Given the description of an element on the screen output the (x, y) to click on. 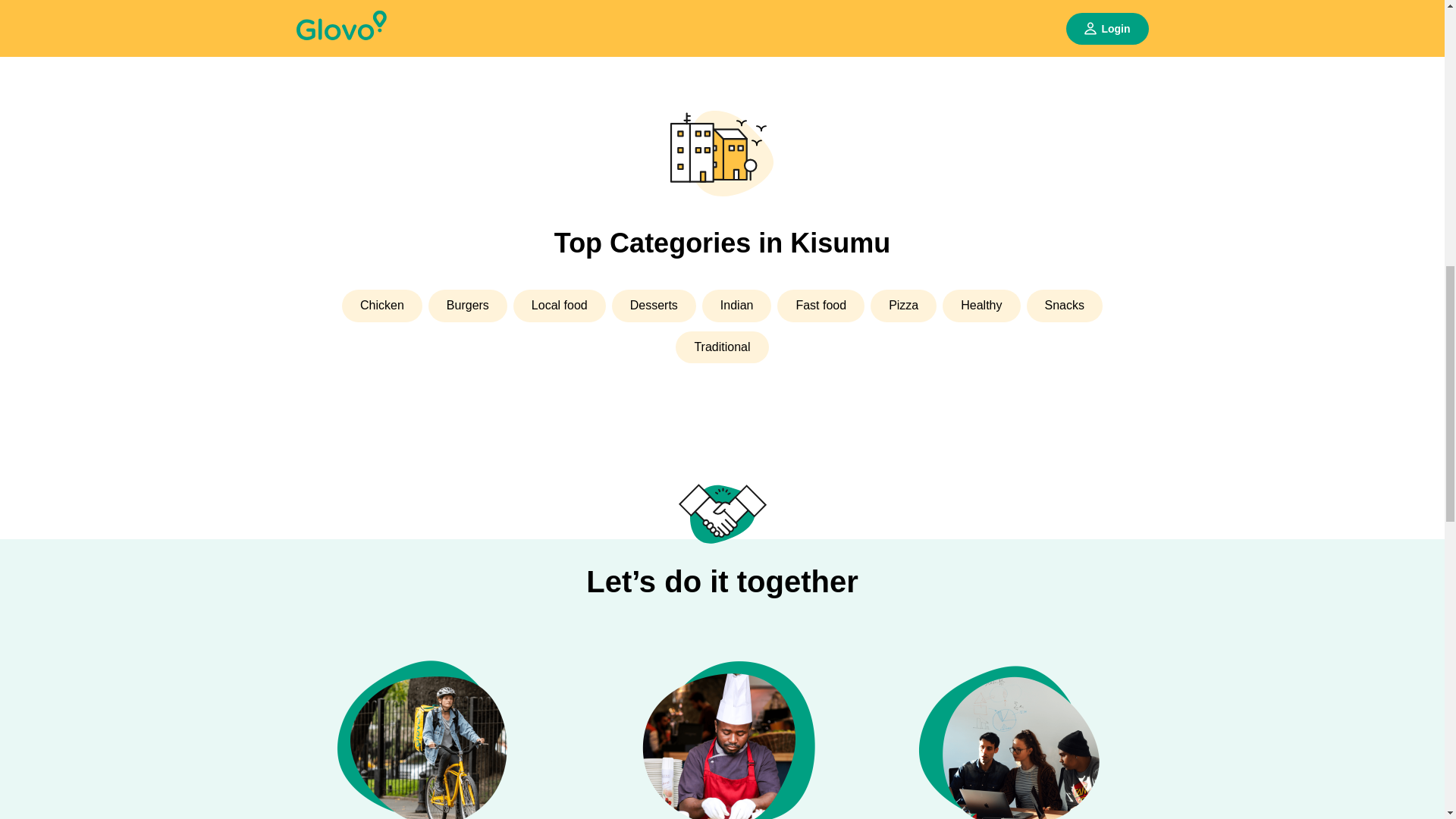
Local food (559, 305)
Pizza (903, 305)
Traditional (721, 347)
Fast food (820, 305)
Healthy (981, 305)
Chicken (382, 305)
Indian (736, 305)
Snacks (1064, 305)
Desserts (653, 305)
Burgers (467, 305)
